Given the description of an element on the screen output the (x, y) to click on. 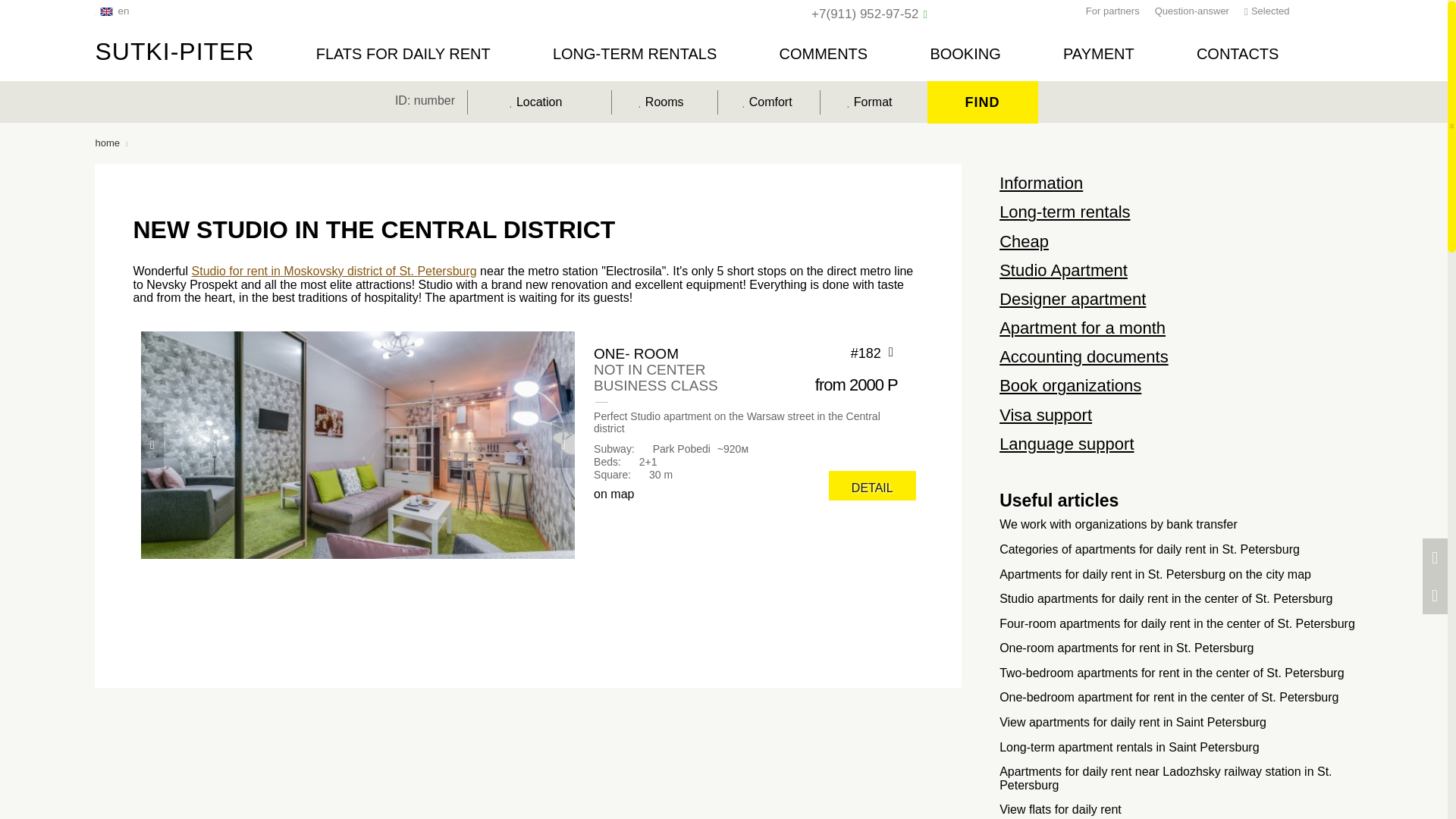
Visa support (1045, 415)
DETAIL (871, 485)
Language support (1066, 443)
Apartment for a month (1082, 327)
Studio Apartment (1062, 270)
For partners (1113, 10)
Cheap (1023, 240)
SUTKI-PITER (173, 51)
COMMENTS (822, 52)
CONTACTS (1237, 52)
Categories of apartments for daily rent in St. Petersburg (1149, 549)
home (106, 142)
Designer apartment (1071, 298)
